Given the description of an element on the screen output the (x, y) to click on. 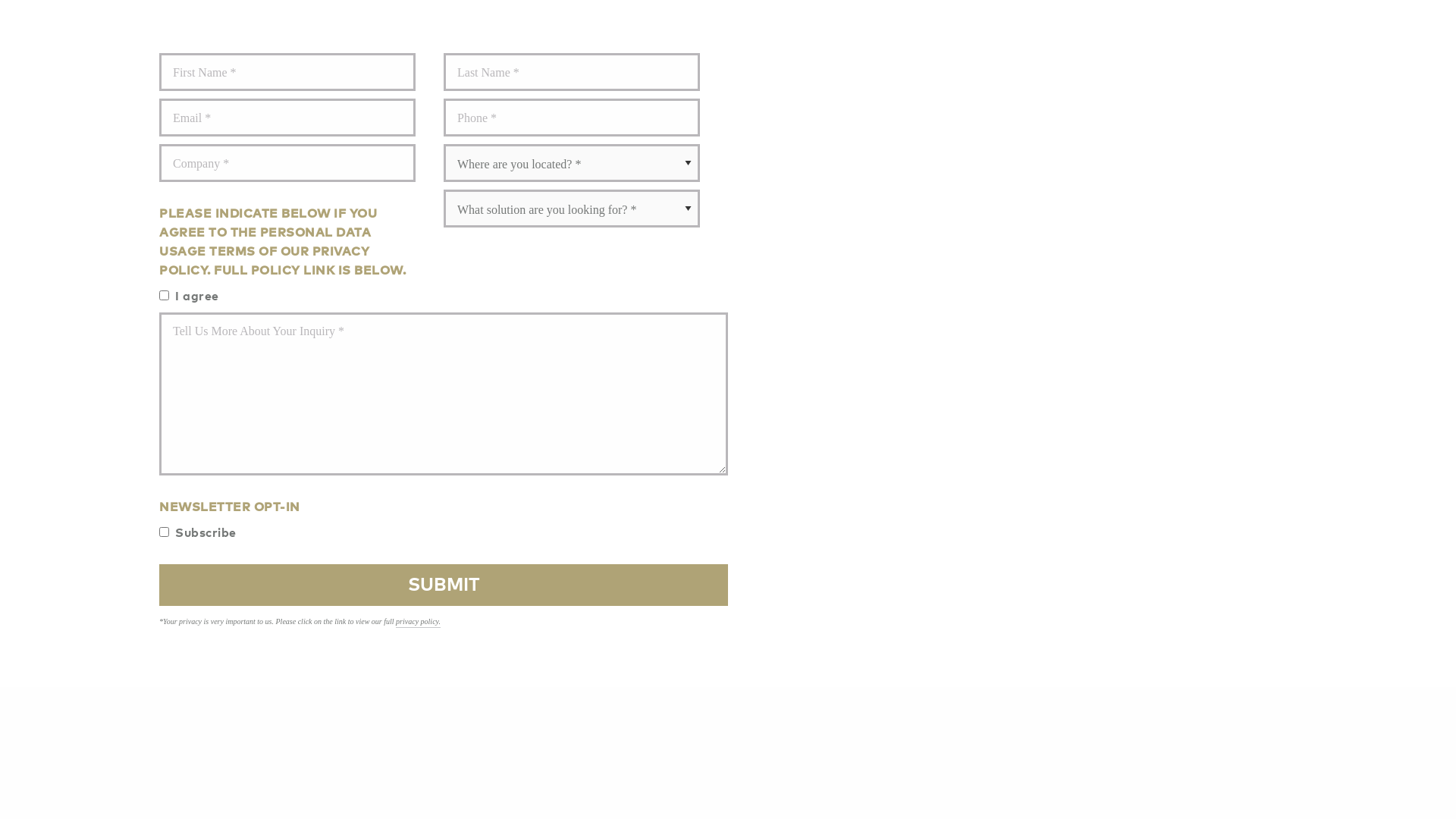
SUBMIT Element type: text (443, 584)
privacy policy. Element type: text (417, 622)
